Given the description of an element on the screen output the (x, y) to click on. 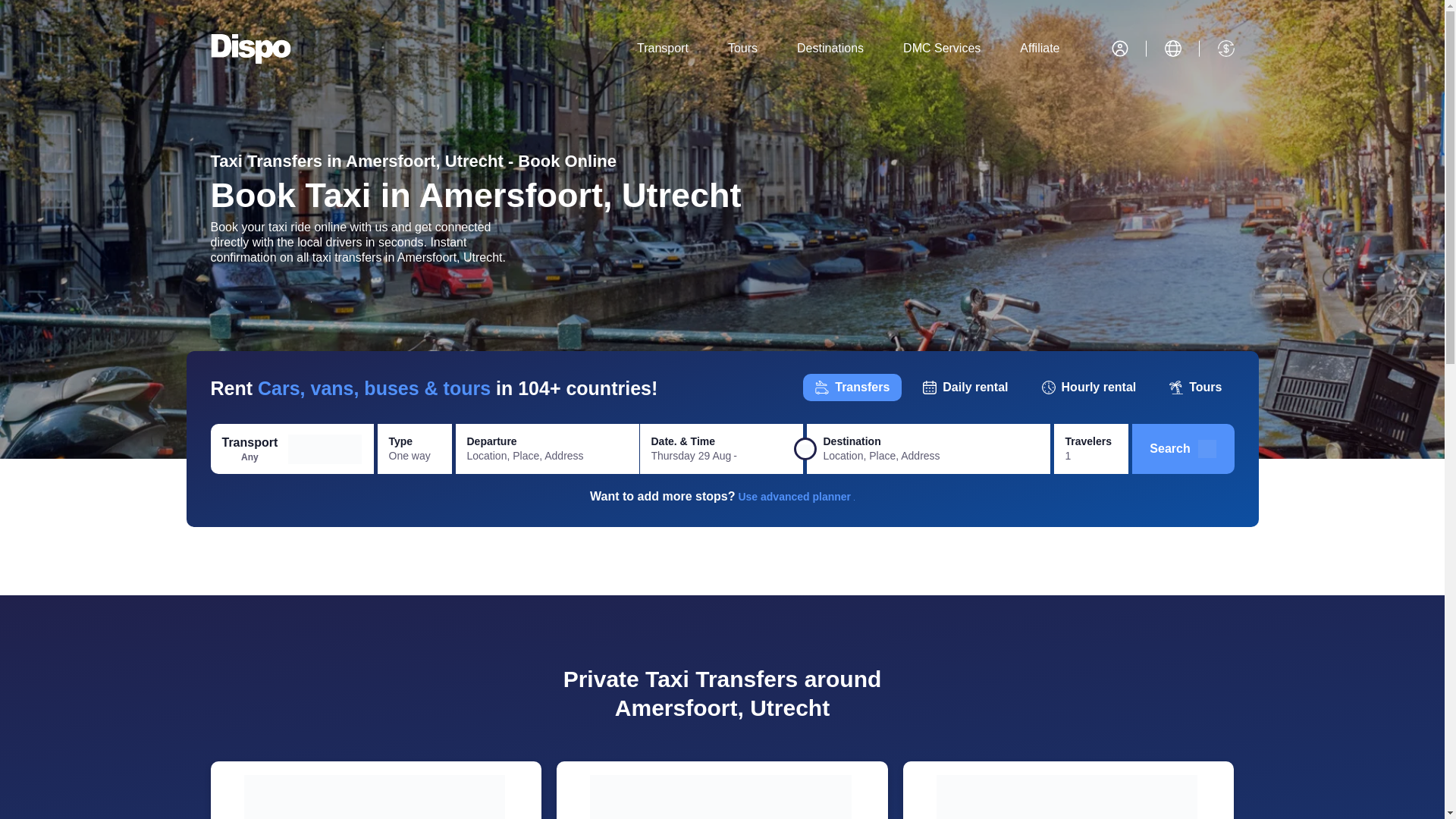
Destinations (830, 47)
Currency (1225, 48)
Transport (662, 47)
Open language menu (1172, 48)
Return to homepage (251, 48)
Tours (743, 47)
